Given the description of an element on the screen output the (x, y) to click on. 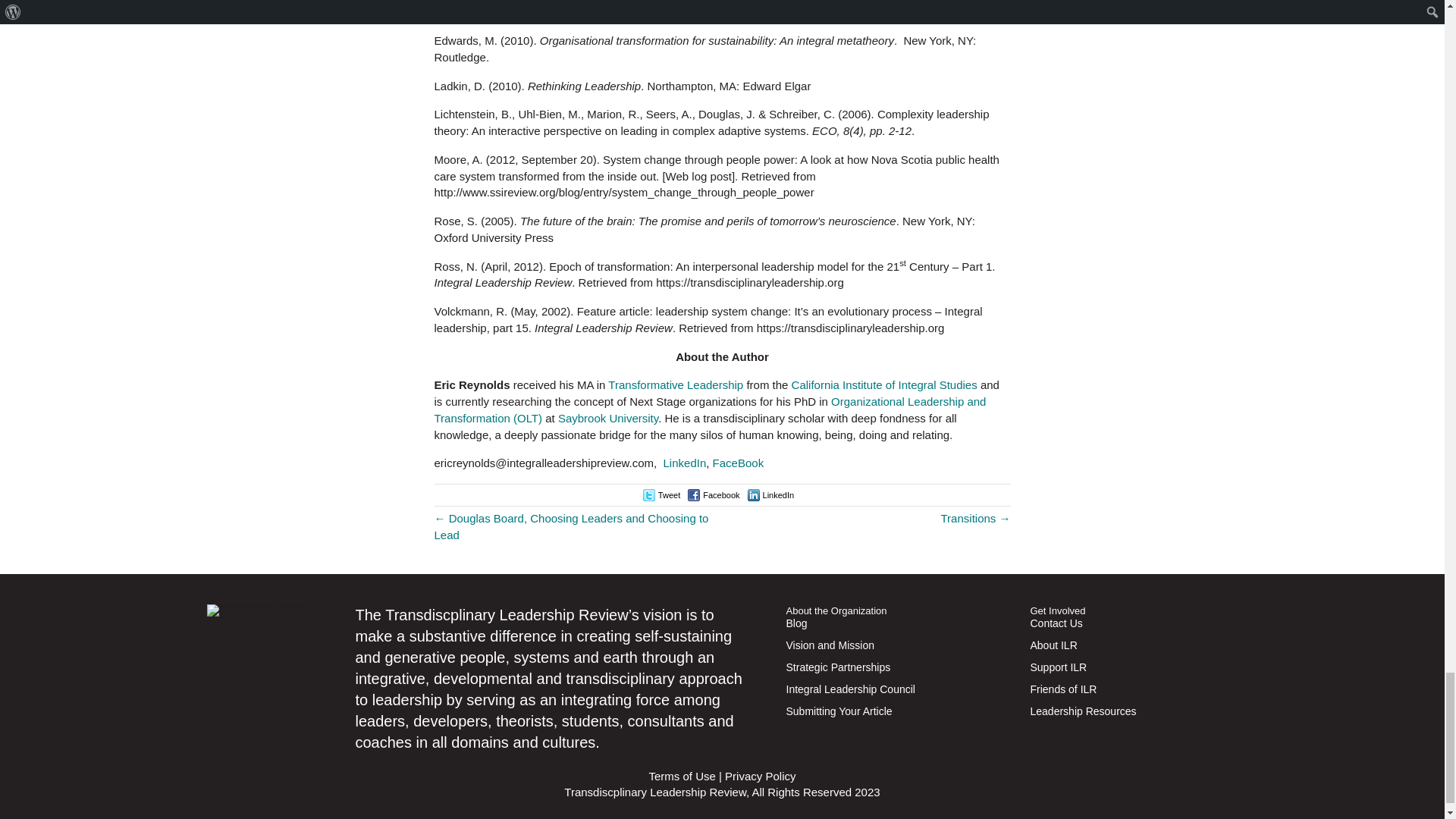
Share on Facebook (721, 494)
Saybrook University (607, 418)
Transformative Leadership (675, 384)
Support ILR (1125, 672)
Submitting Your Article (885, 716)
Tweet (668, 494)
Strategic Partnerships (885, 672)
Contact Us (1125, 628)
Blog (885, 628)
California Institute of Integral Studies (884, 384)
